Given the description of an element on the screen output the (x, y) to click on. 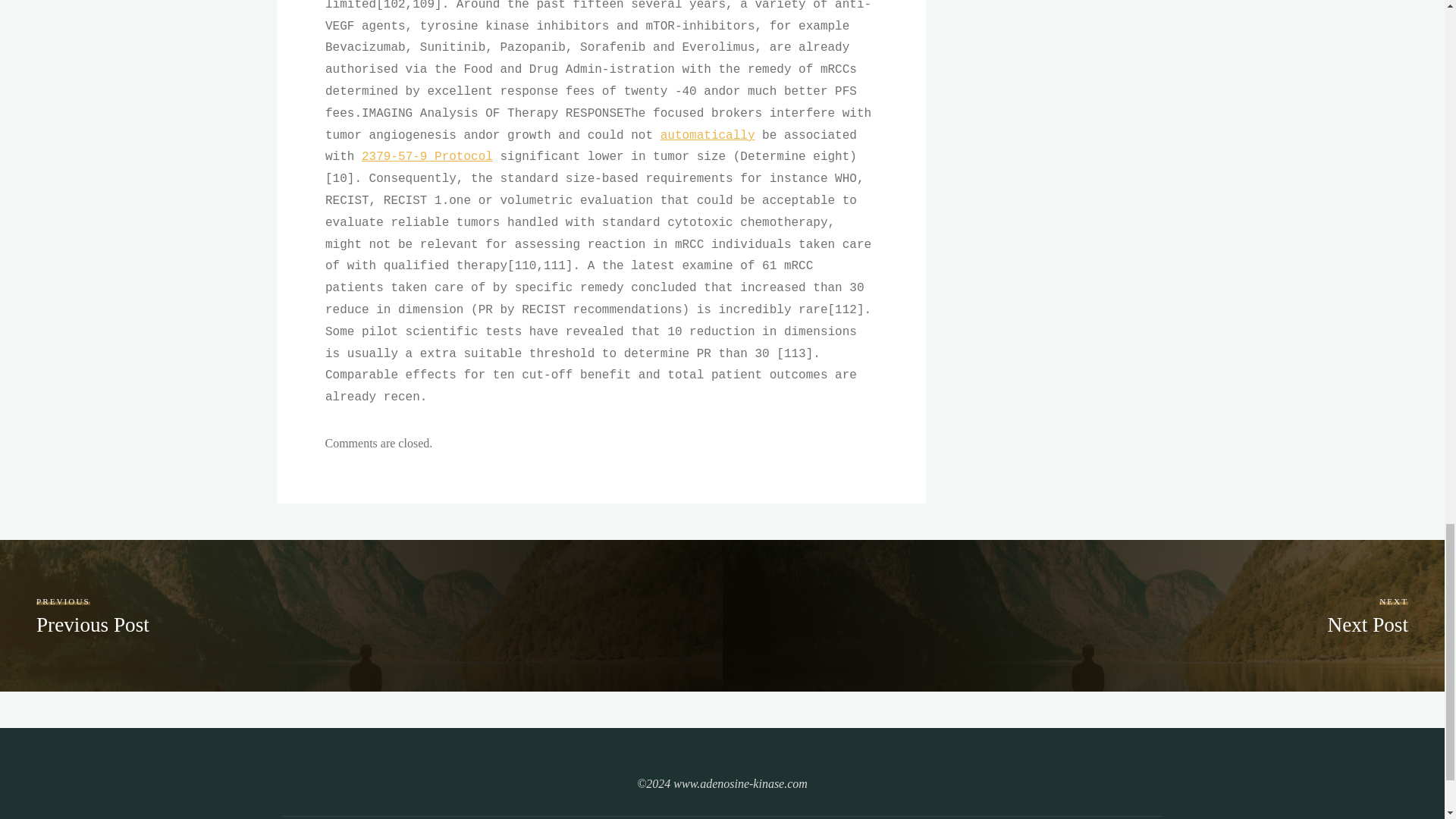
2379-57-9 Protocol (427, 156)
automatically (1366, 614)
